Given the description of an element on the screen output the (x, y) to click on. 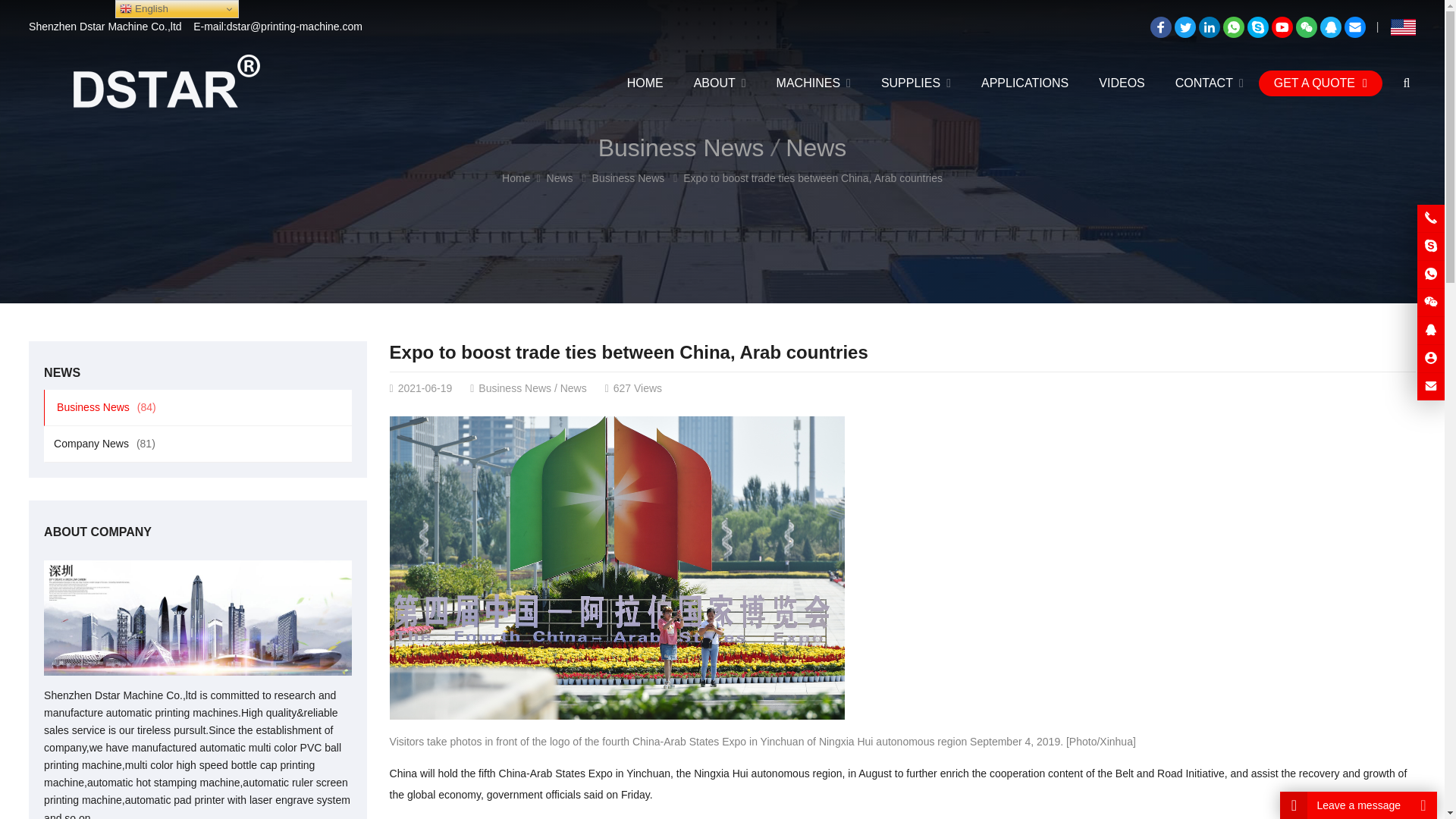
QQ (1330, 26)
APPLICATIONS (1024, 83)
Facebook (1160, 26)
Skype (1257, 26)
SUPPLIES (916, 83)
DSTAR machine (165, 83)
WhatsApp (1233, 26)
Twitter (1184, 26)
MACHINES (813, 83)
WeChat (1306, 26)
YouTube (1281, 26)
ABOUT (719, 83)
HOME (644, 83)
Printing machine manufacturer (644, 83)
